Given the description of an element on the screen output the (x, y) to click on. 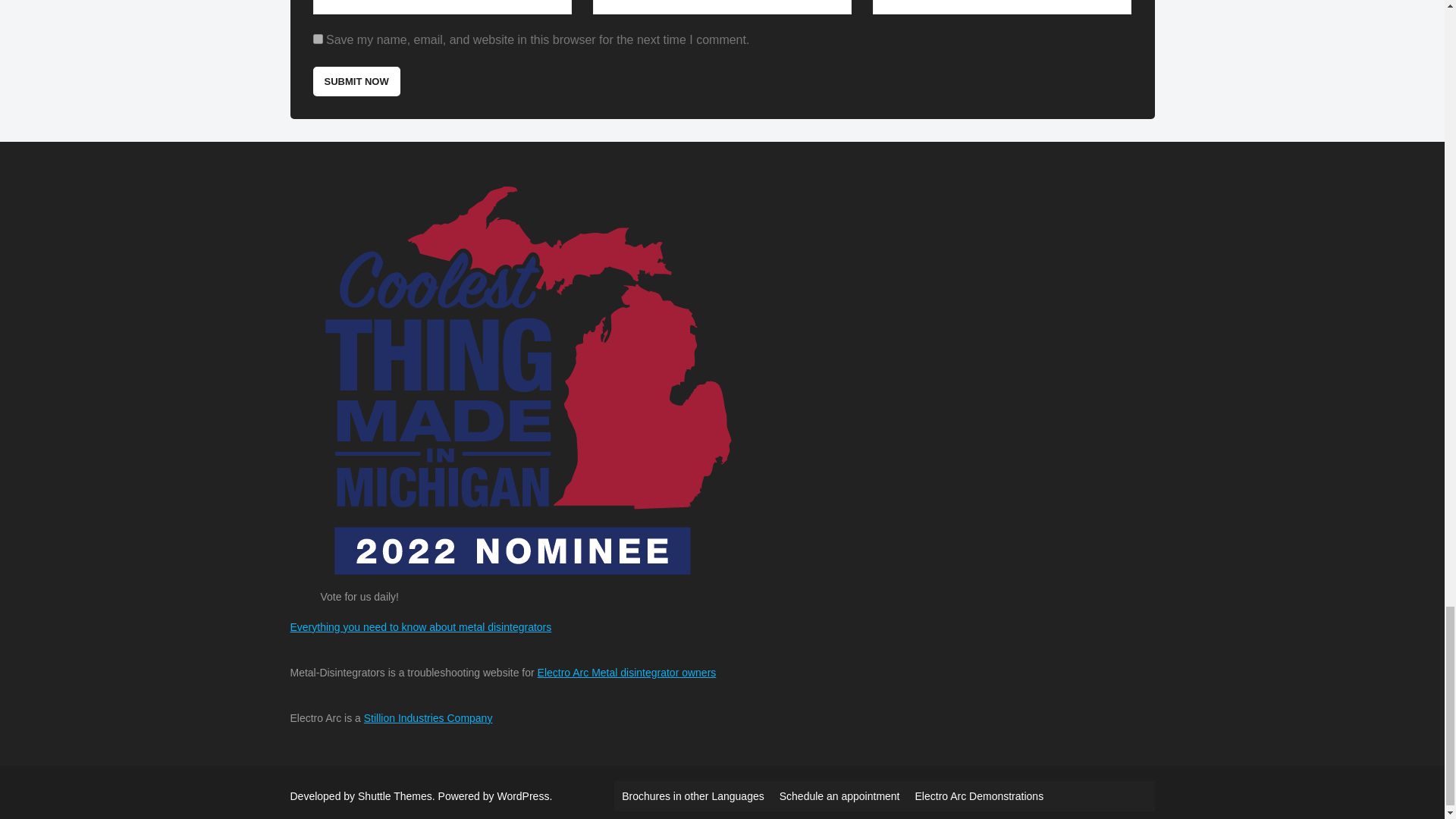
Submit Now (355, 81)
yes (317, 39)
